Given the description of an element on the screen output the (x, y) to click on. 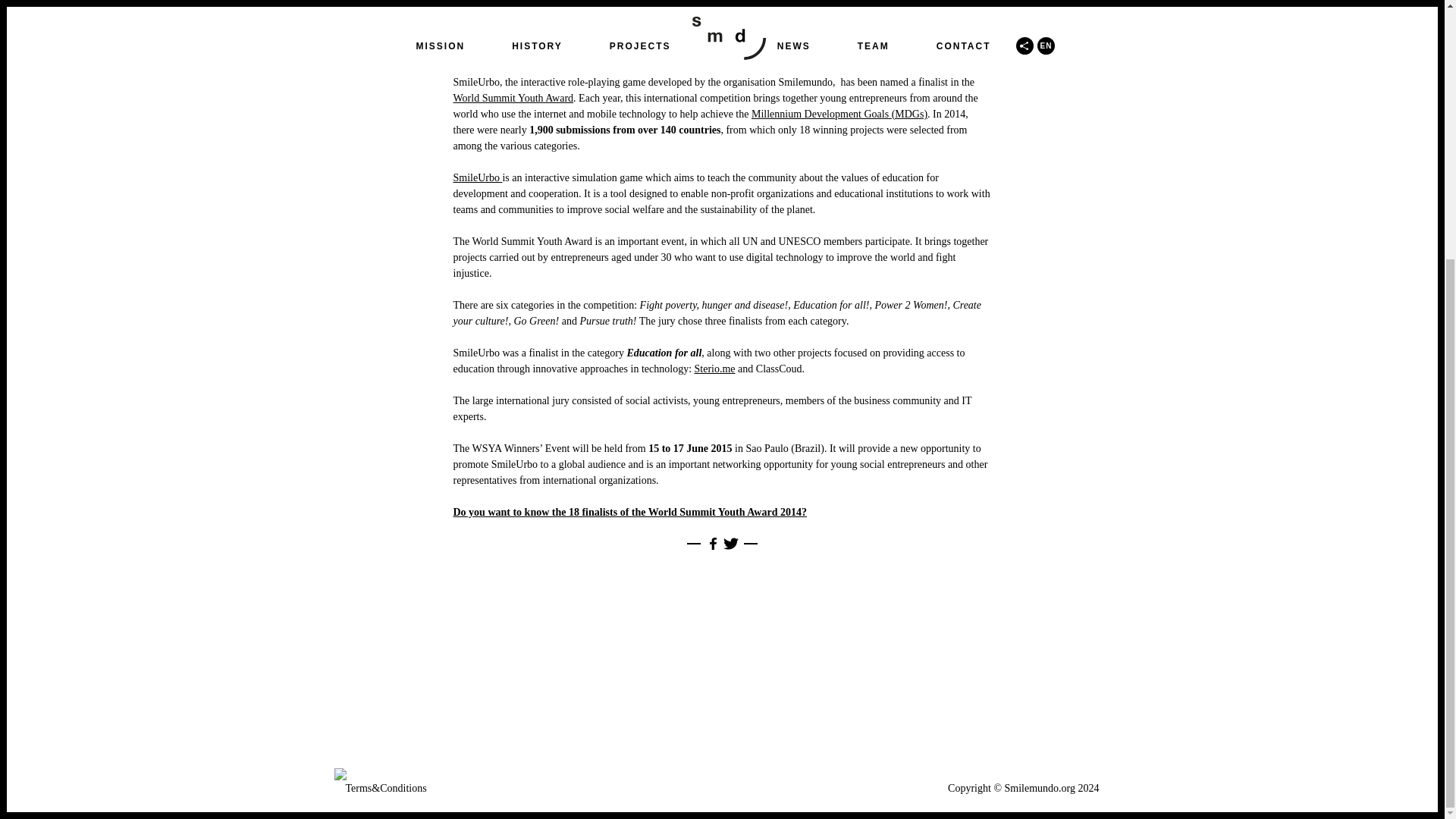
DEVELOPMENT (740, 50)
SmileUrbo (477, 177)
Sterio.me (714, 368)
SmileUrbo wins the World Summit Youth Award 2014 (721, 16)
World Summit Youth Award (512, 98)
AWARDS (681, 50)
SMILEURBO (864, 50)
SmileUrbo wins the World Summit Youth Award 2014 (721, 16)
EDUCATION (805, 50)
